Given the description of an element on the screen output the (x, y) to click on. 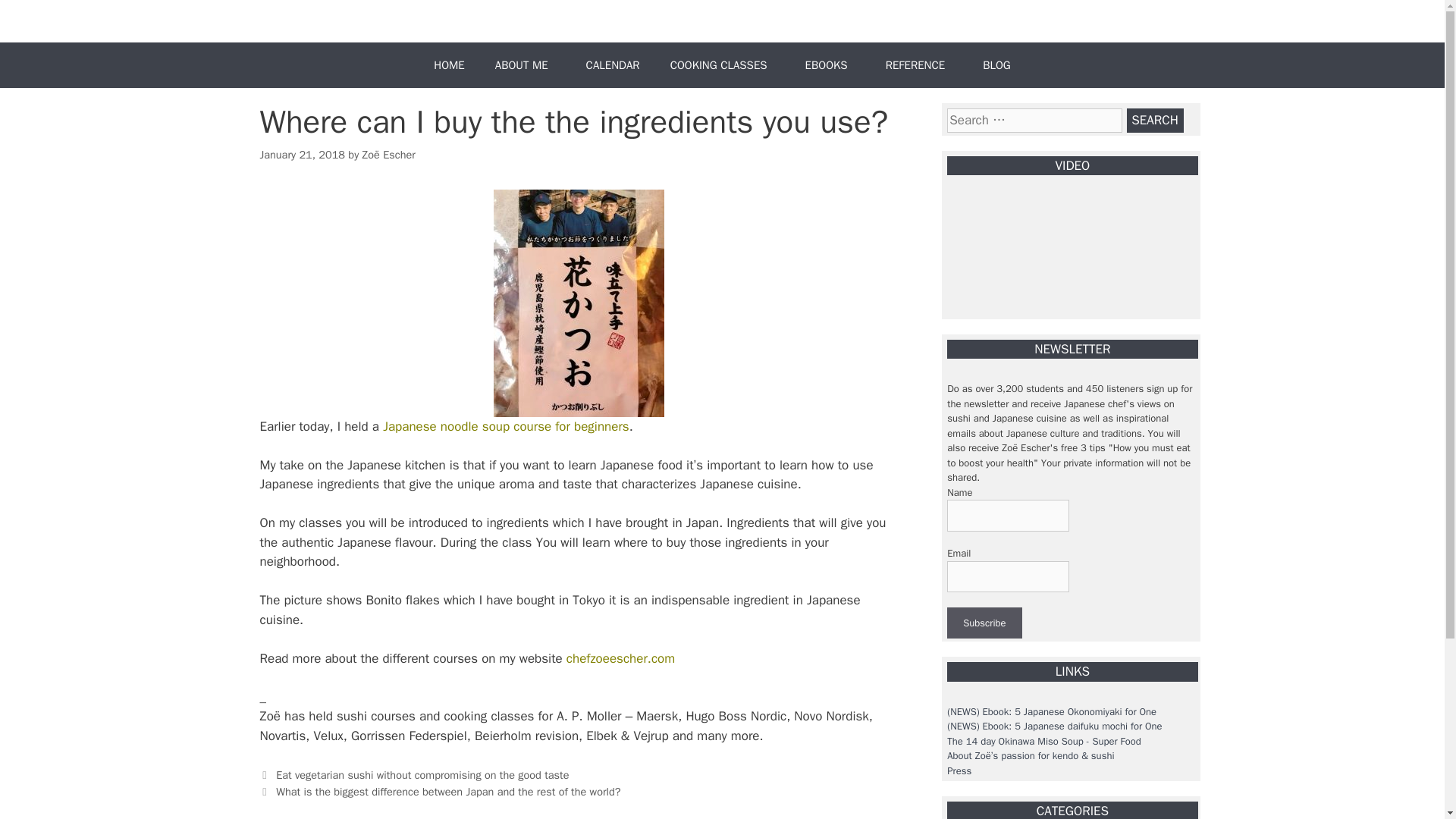
Japanese noodle soup course for beginners (505, 426)
REFERENCE (919, 64)
CALENDAR (612, 64)
COOKING CLASSES (722, 64)
chefzoeescher.com (620, 658)
Search (1154, 120)
Search (1154, 120)
EBOOKS (830, 64)
Search for: (1034, 120)
BLOG (997, 64)
HOME (449, 64)
ABOUT ME (525, 64)
